Given the description of an element on the screen output the (x, y) to click on. 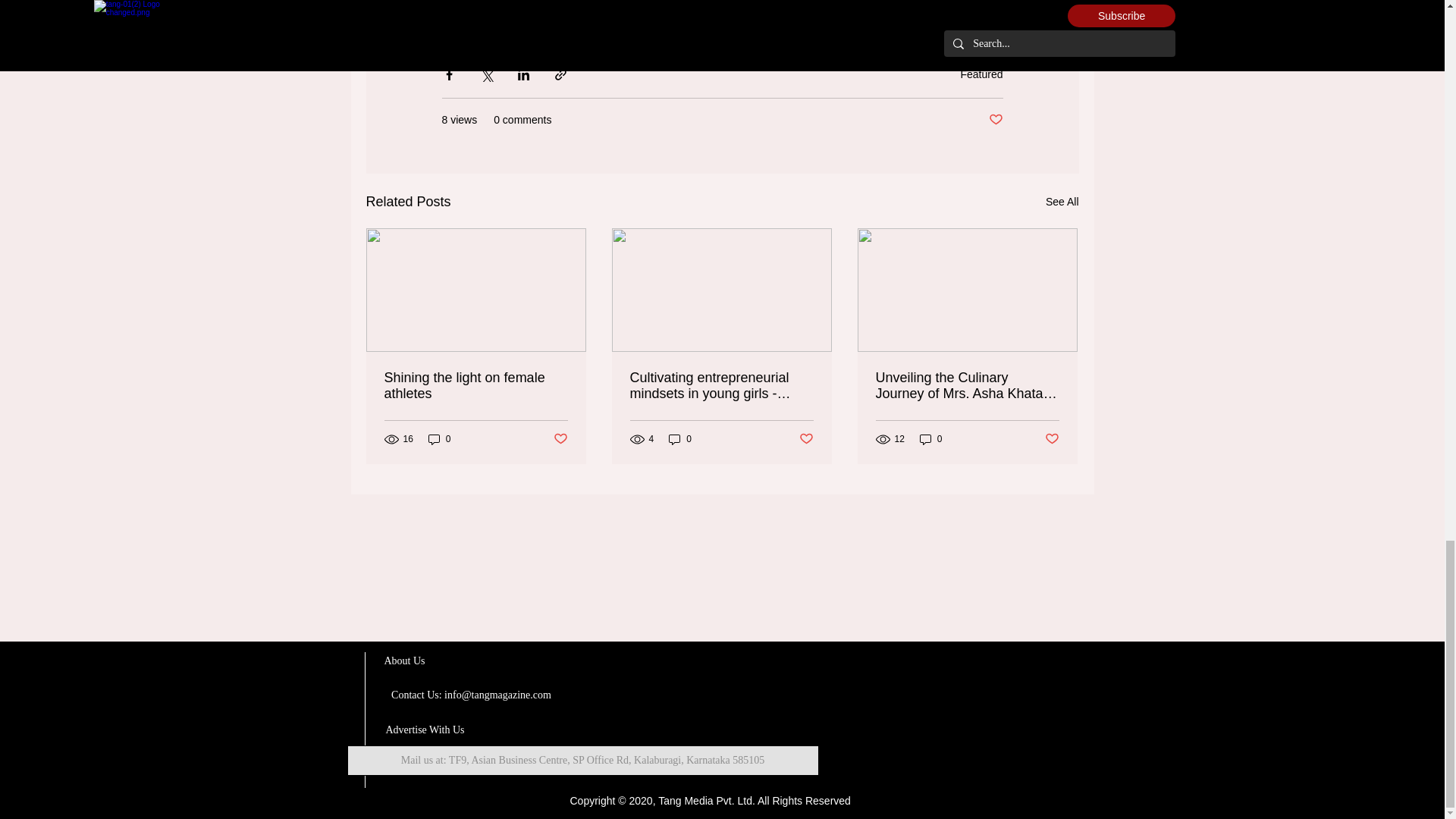
Shining the light on female athletes (475, 386)
women's magazine (591, 16)
See All (1061, 201)
Post not marked as liked (560, 439)
Featured (981, 73)
0 (679, 439)
Post not marked as liked (1052, 439)
Post not marked as liked (995, 119)
